Given the description of an element on the screen output the (x, y) to click on. 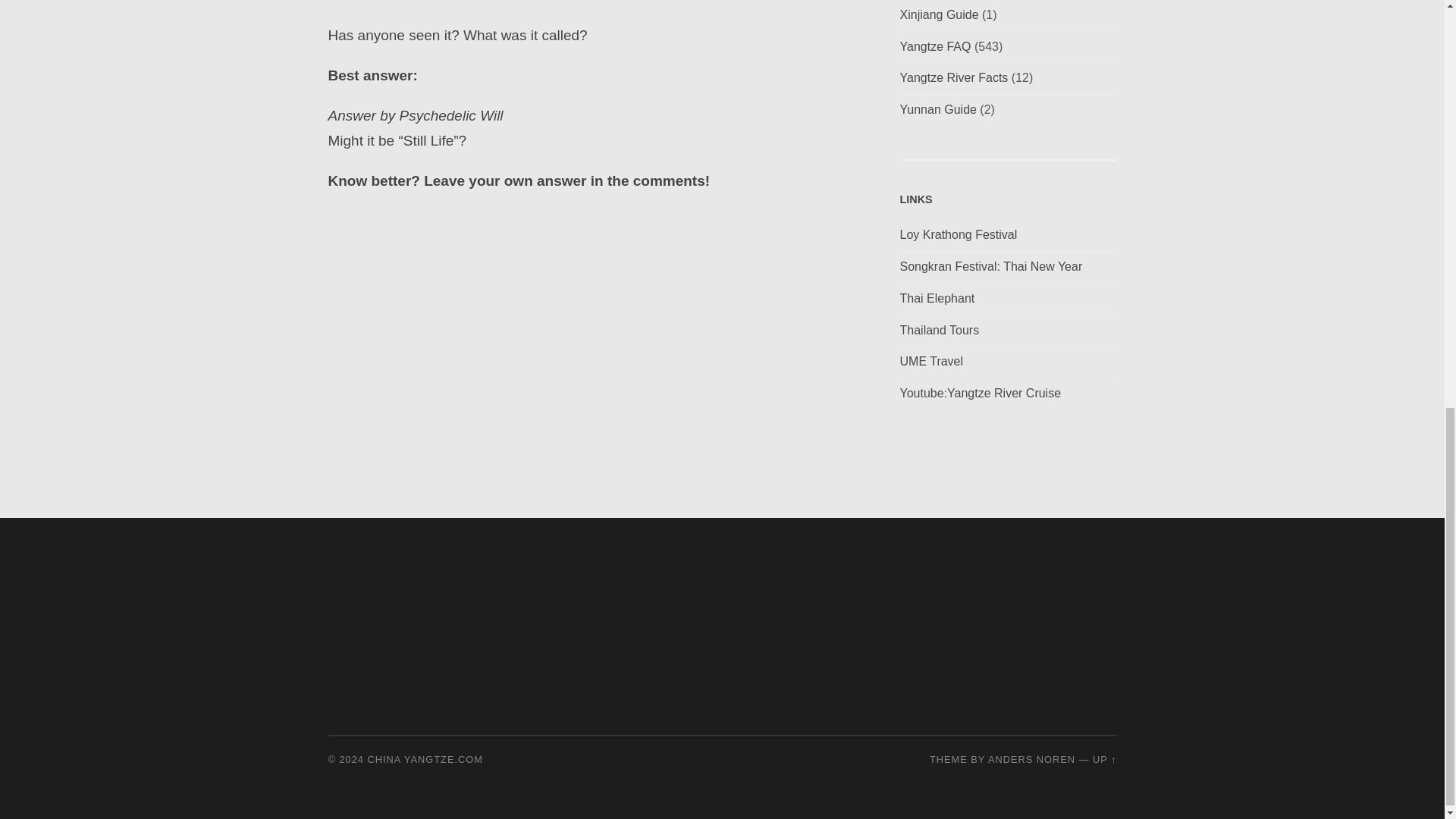
Thailand Tours (938, 329)
Loy Krathong Festival (957, 234)
Songkran Festival: Thai New Year (990, 266)
Youtube:Yangtze River Cruise (980, 392)
Yangtze River Facts (953, 77)
UME Travel (930, 360)
Yunnan Guide (937, 109)
Yangtze FAQ (935, 46)
To the top (1104, 758)
Thai Elephant (936, 297)
